Given the description of an element on the screen output the (x, y) to click on. 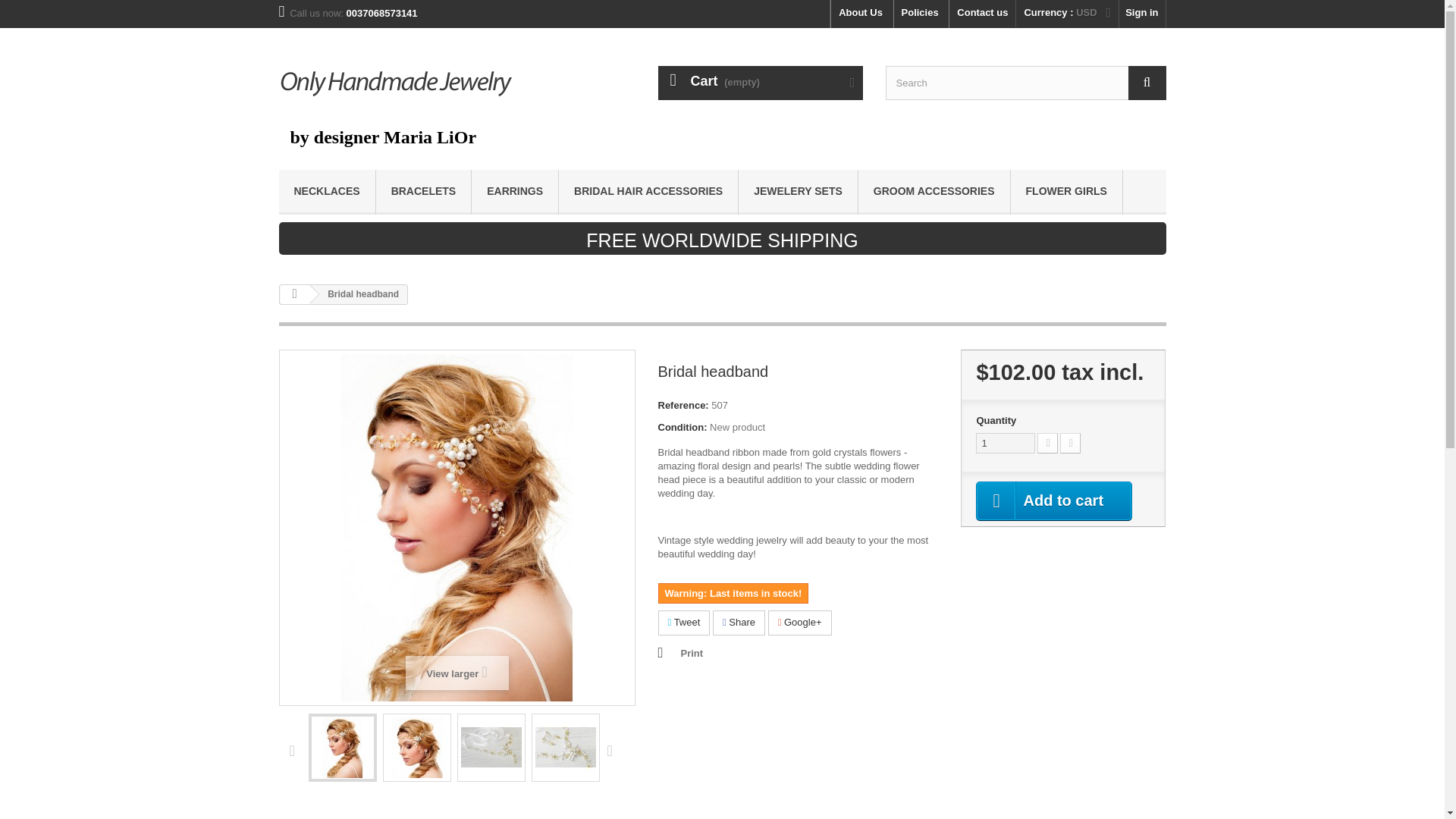
Log in to your customer account (1141, 13)
JEWELERY SETS (797, 191)
Bridal Hair Accessories (648, 191)
NECKLACES (327, 191)
Tweet (684, 622)
FLOWER GIRLS (1066, 191)
1 (1005, 443)
EARRINGS (514, 191)
About Us (859, 13)
Sign in (1141, 13)
